Given the description of an element on the screen output the (x, y) to click on. 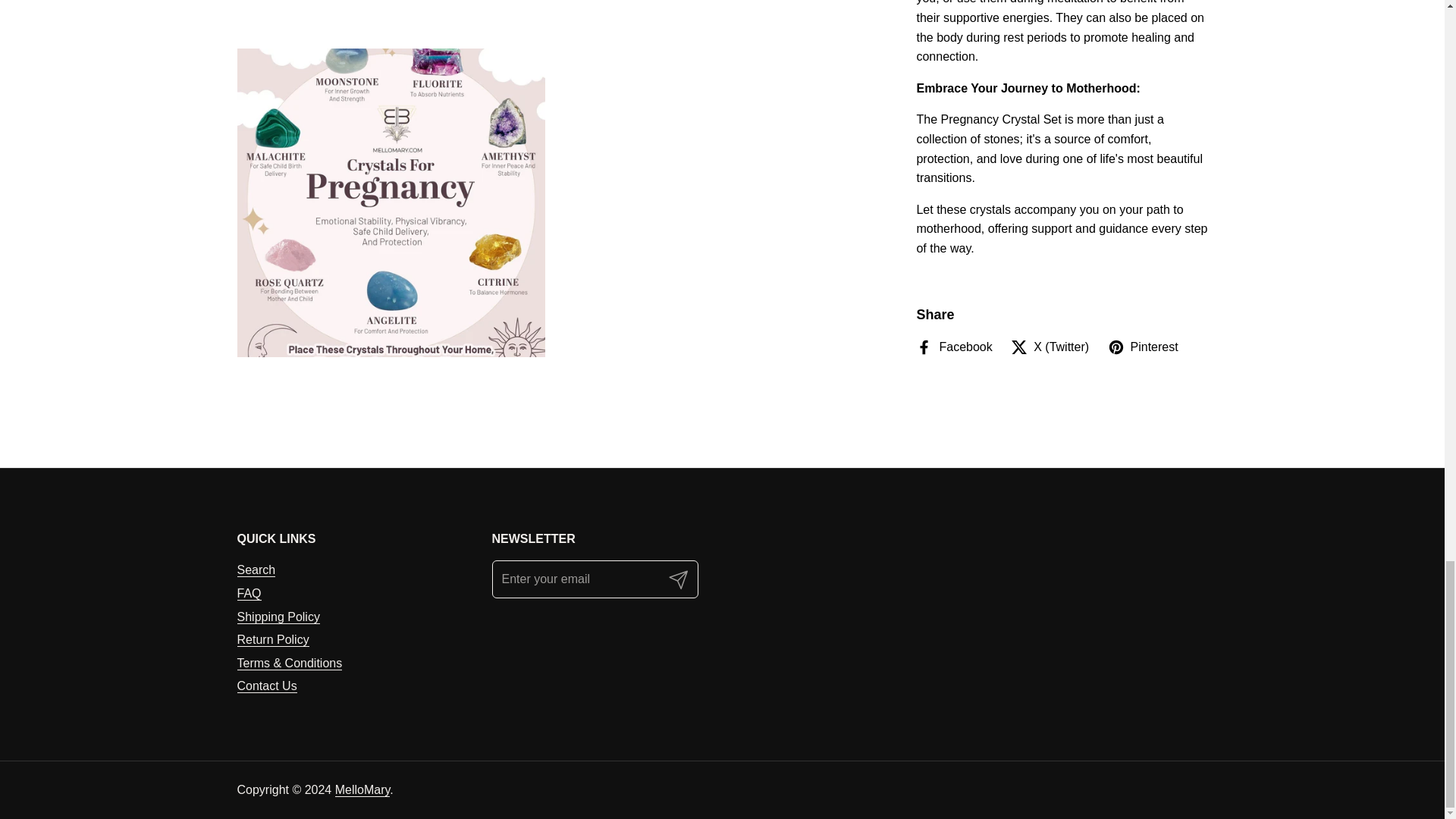
Share on X (1049, 347)
Share on facebook (953, 347)
Share on pinterest (1142, 347)
